Given the description of an element on the screen output the (x, y) to click on. 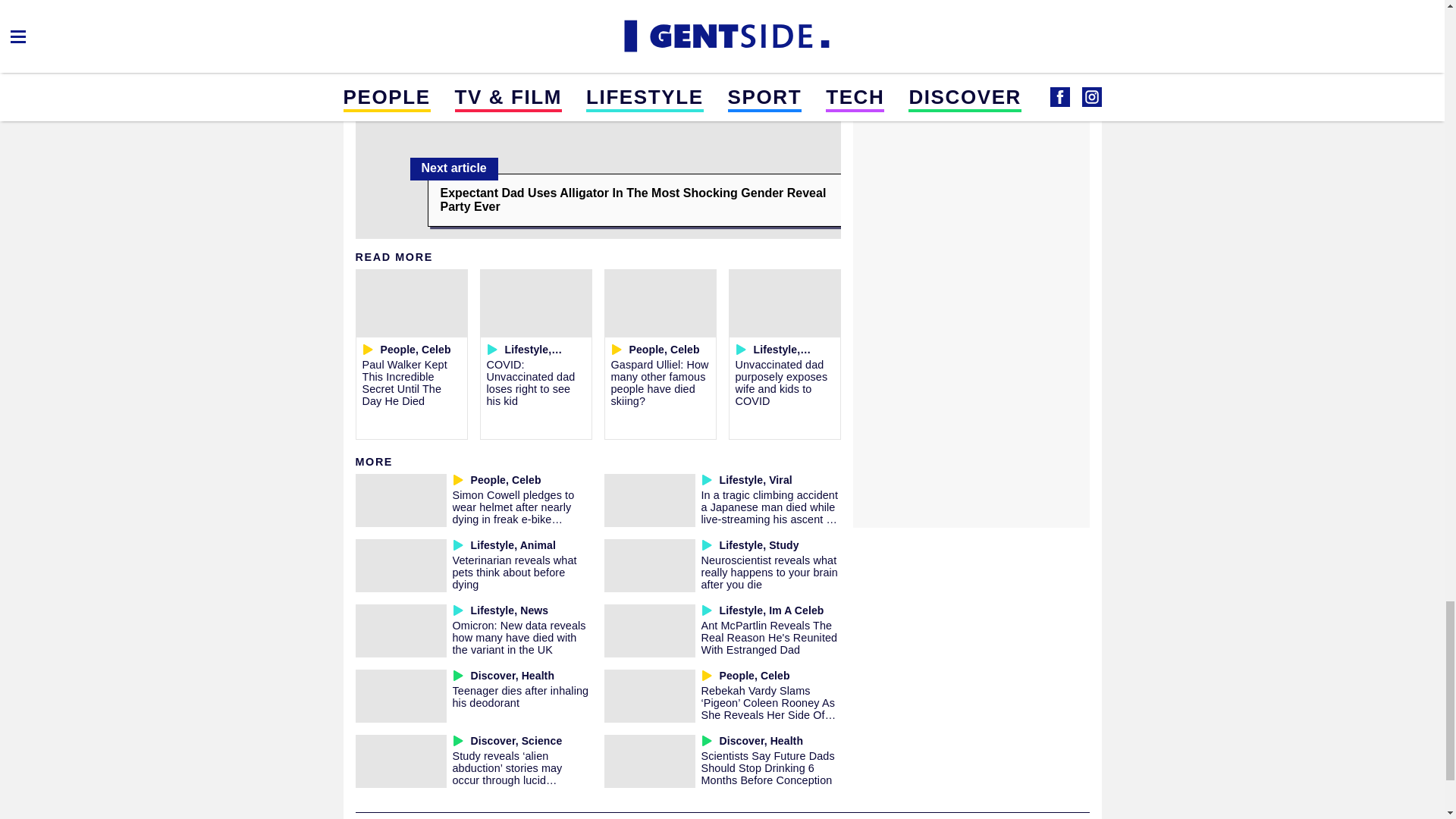
Teenager dies after inhaling his deodorant (519, 696)
COVID: Unvaccinated dad loses right to see his kid (530, 382)
Veterinarian reveals what pets think about before dying (513, 572)
